Given the description of an element on the screen output the (x, y) to click on. 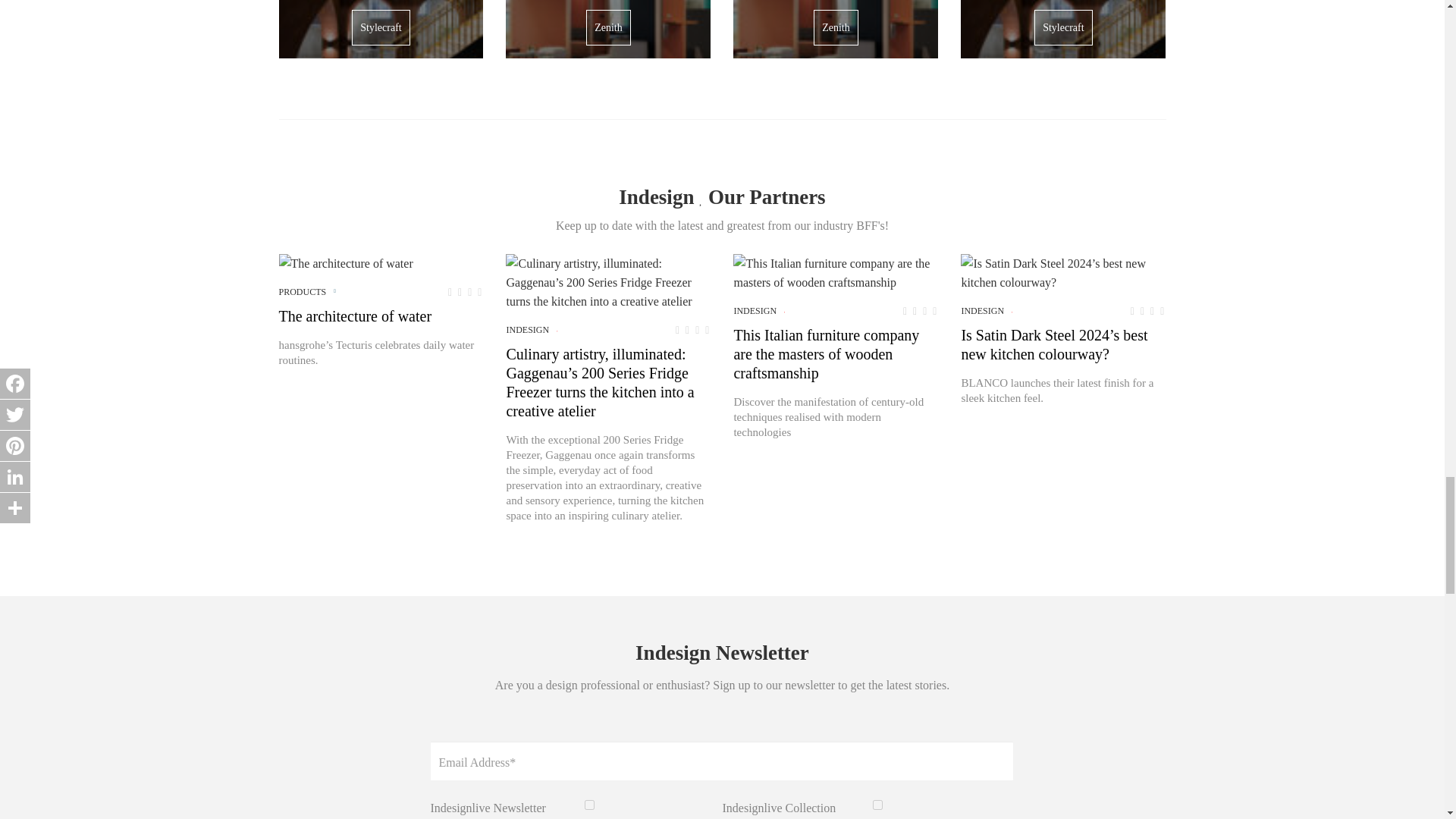
yes (877, 804)
The architecture of water (346, 262)
yes (589, 804)
